Given the description of an element on the screen output the (x, y) to click on. 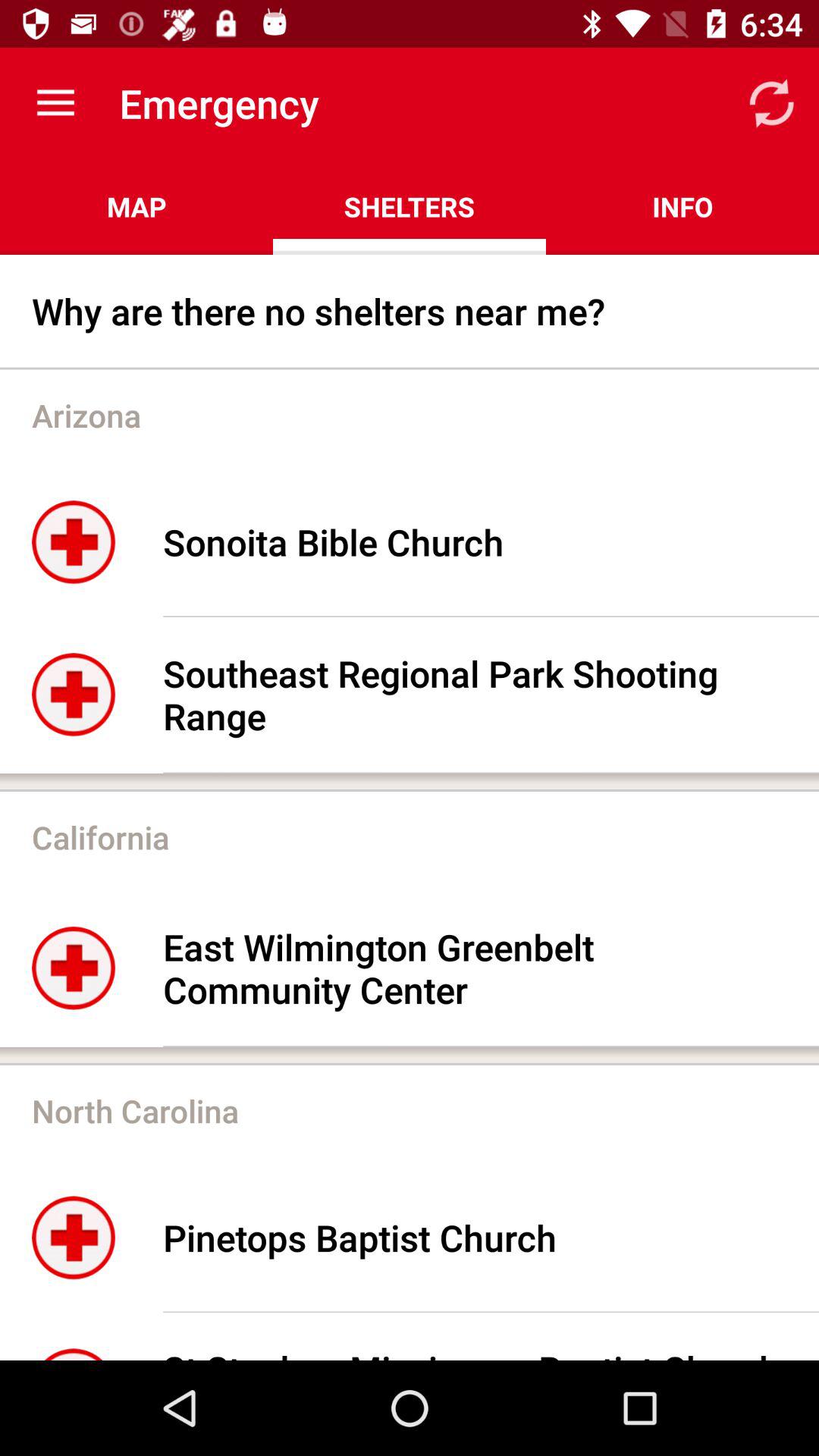
choose the item to the left of emergency app (55, 103)
